Given the description of an element on the screen output the (x, y) to click on. 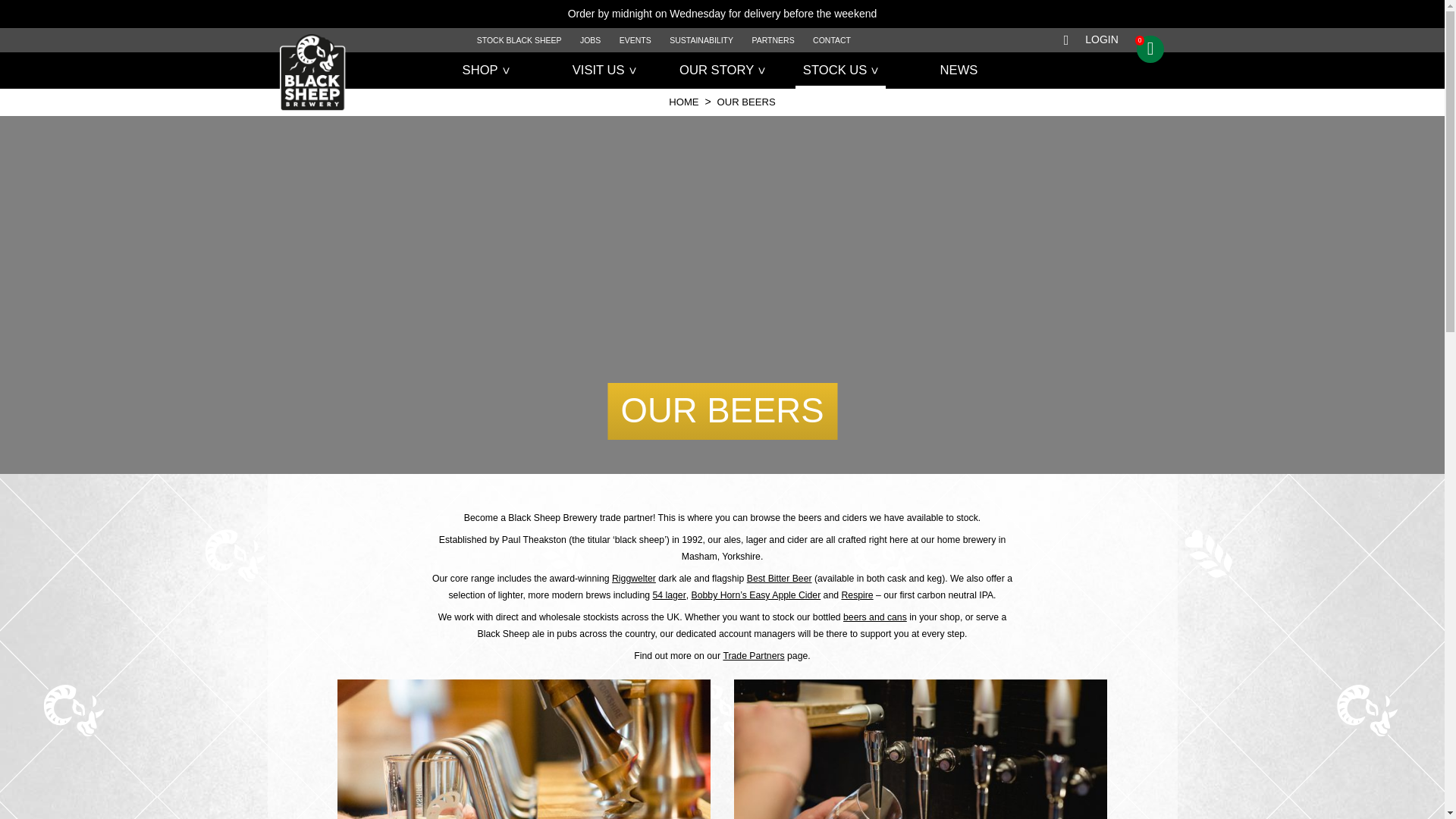
STOCK US (839, 69)
VISIT US (603, 69)
LOGIN (1101, 39)
Go to Home. (683, 101)
EVENTS (635, 39)
SUSTAINABILITY (701, 39)
PARTNERS (773, 39)
JOBS (590, 39)
OUR STORY (722, 69)
SHOP (485, 69)
